Given the description of an element on the screen output the (x, y) to click on. 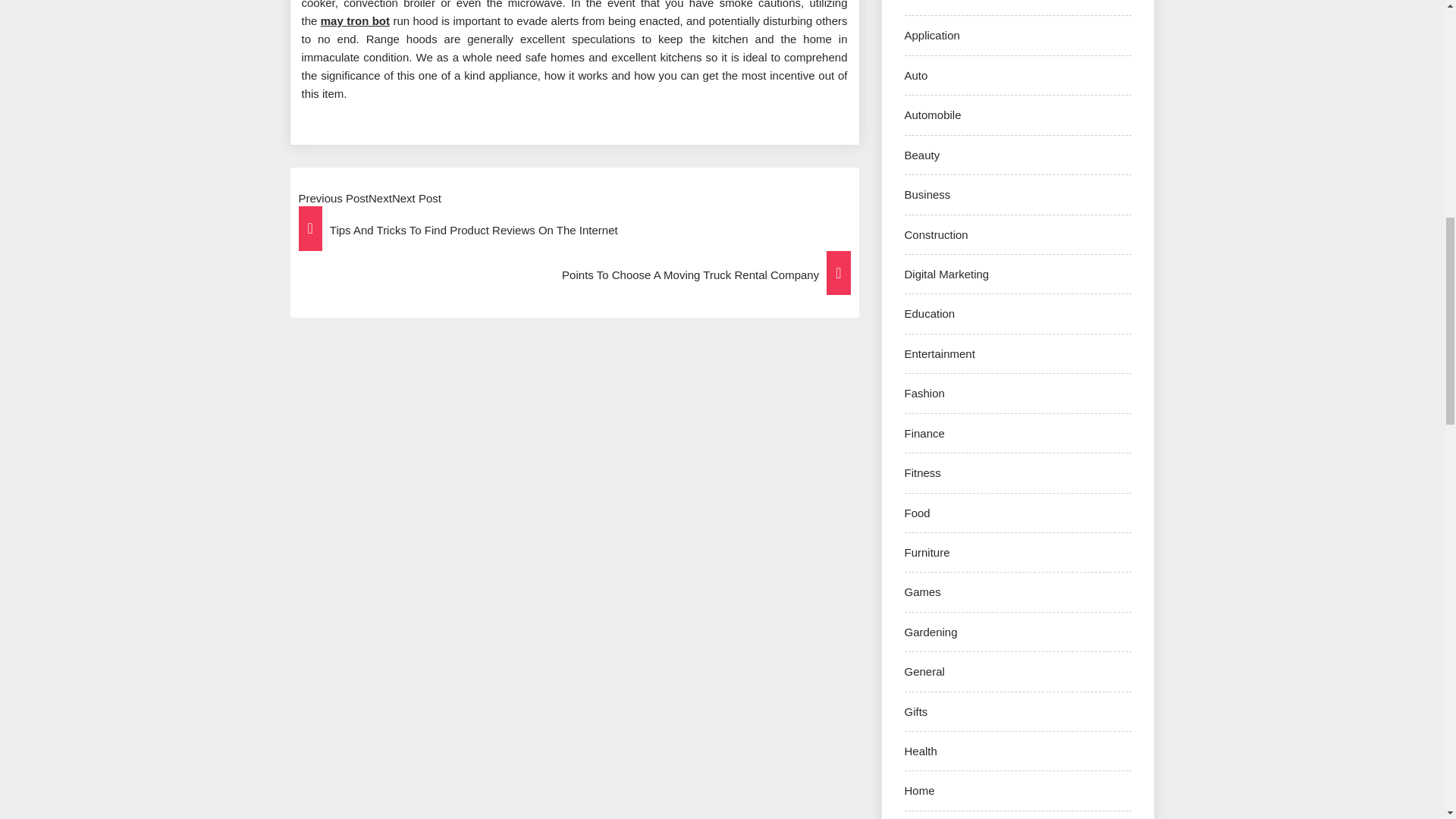
Games (922, 591)
Gardening (930, 631)
Food (917, 512)
Digital Marketing (946, 273)
Education (929, 313)
Construction (936, 234)
Finance (923, 432)
Automobile (932, 114)
General (923, 671)
Beauty (921, 154)
Furniture (926, 552)
Fashion (923, 392)
Auto (915, 74)
Fitness (922, 472)
Entertainment (939, 353)
